Given the description of an element on the screen output the (x, y) to click on. 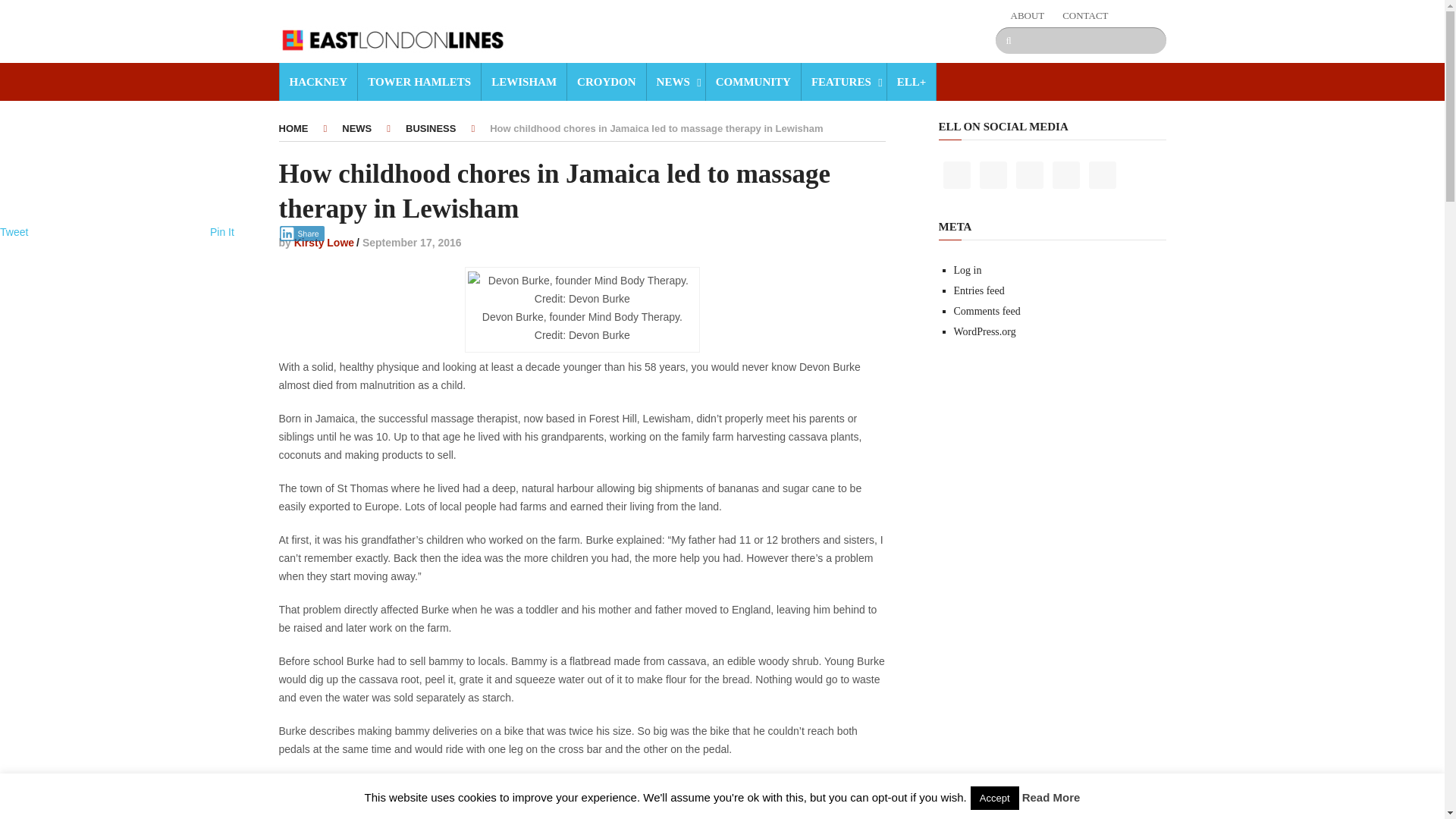
LEWISHAM (523, 81)
HOME (293, 128)
NEWS (675, 81)
ABOUT (1026, 15)
CONTACT (1085, 15)
NEWS (356, 128)
TOWER HAMLETS (418, 81)
COMMUNITY (752, 81)
Kirsty Lowe (323, 242)
FEATURES (843, 81)
